Given the description of an element on the screen output the (x, y) to click on. 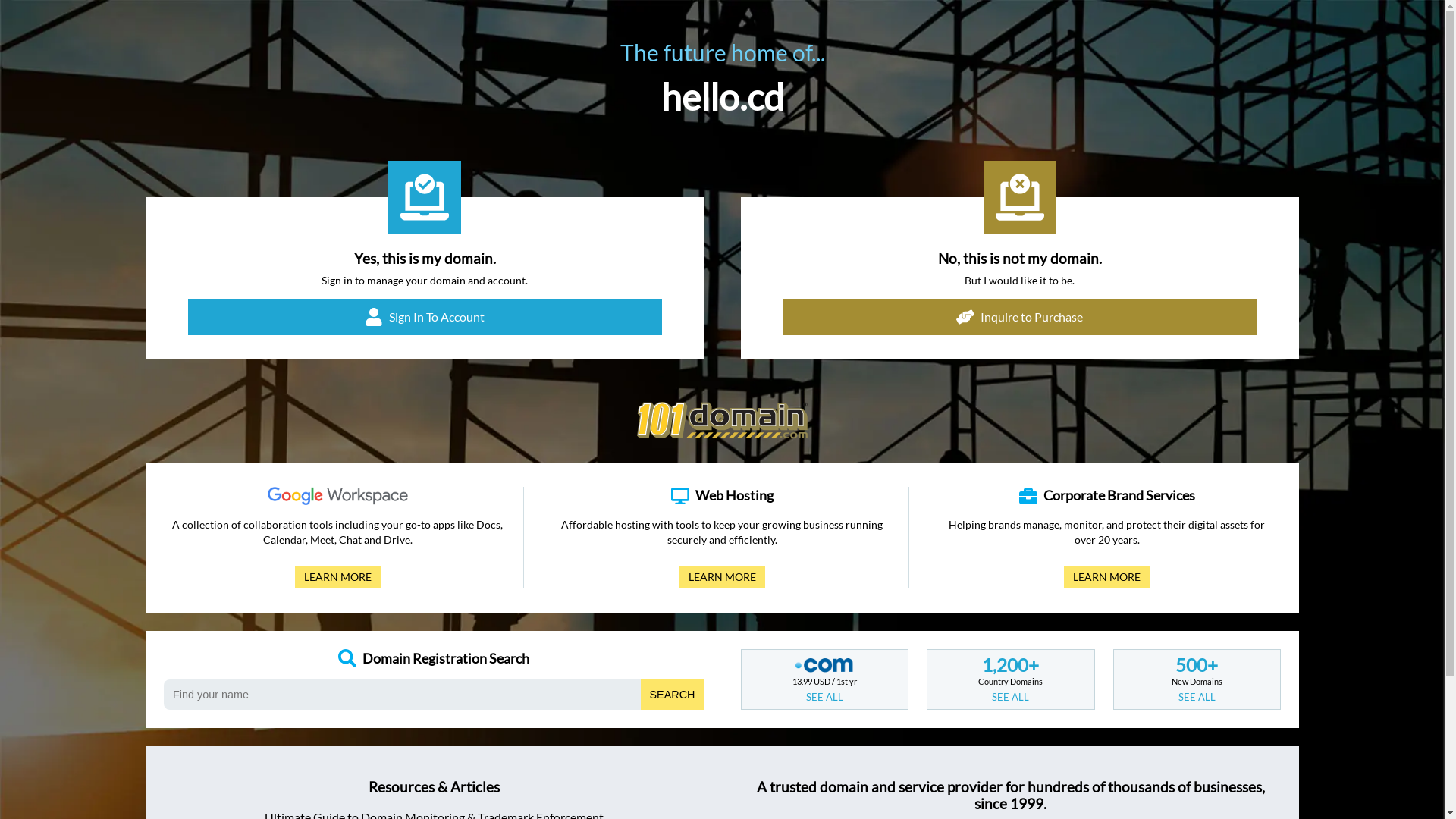
Sign In To Account Element type: text (425, 316)
Inquire to Purchase Element type: text (1019, 316)
SEE ALL Element type: text (1196, 696)
LEARN MORE Element type: text (722, 576)
LEARN MORE Element type: text (337, 576)
SEARCH Element type: text (672, 694)
LEARN MORE Element type: text (1106, 576)
SEE ALL Element type: text (1010, 696)
SEE ALL Element type: text (824, 696)
